Given the description of an element on the screen output the (x, y) to click on. 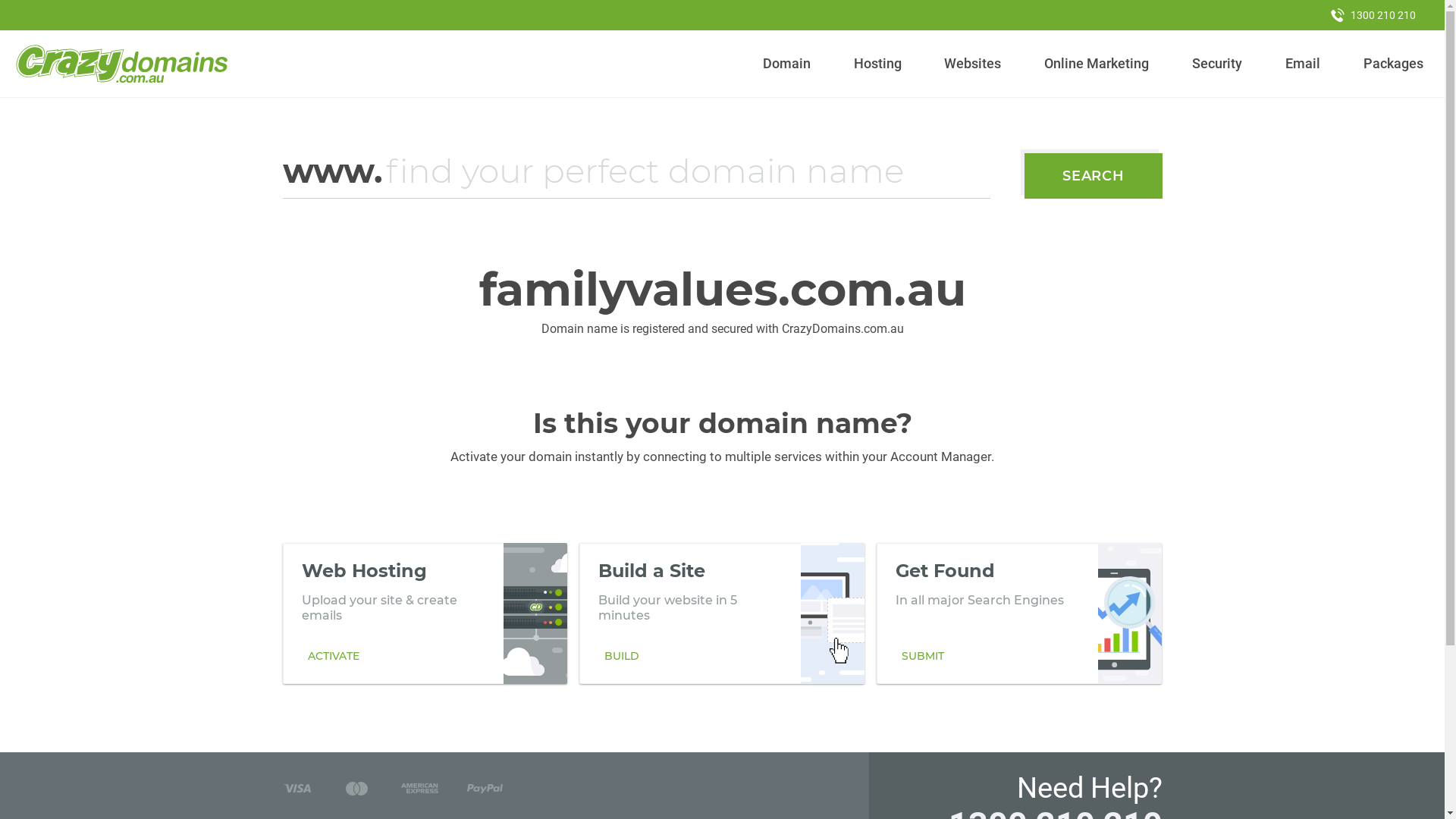
Email Element type: text (1302, 63)
1300 210 210 Element type: text (1373, 15)
Websites Element type: text (972, 63)
Packages Element type: text (1392, 63)
Domain Element type: text (786, 63)
Hosting Element type: text (877, 63)
Online Marketing Element type: text (1096, 63)
SEARCH Element type: text (1092, 175)
Build a Site
Build your website in 5 minutes
BUILD Element type: text (721, 613)
Get Found
In all major Search Engines
SUBMIT Element type: text (1018, 613)
Web Hosting
Upload your site & create emails
ACTIVATE Element type: text (424, 613)
Security Element type: text (1217, 63)
